Given the description of an element on the screen output the (x, y) to click on. 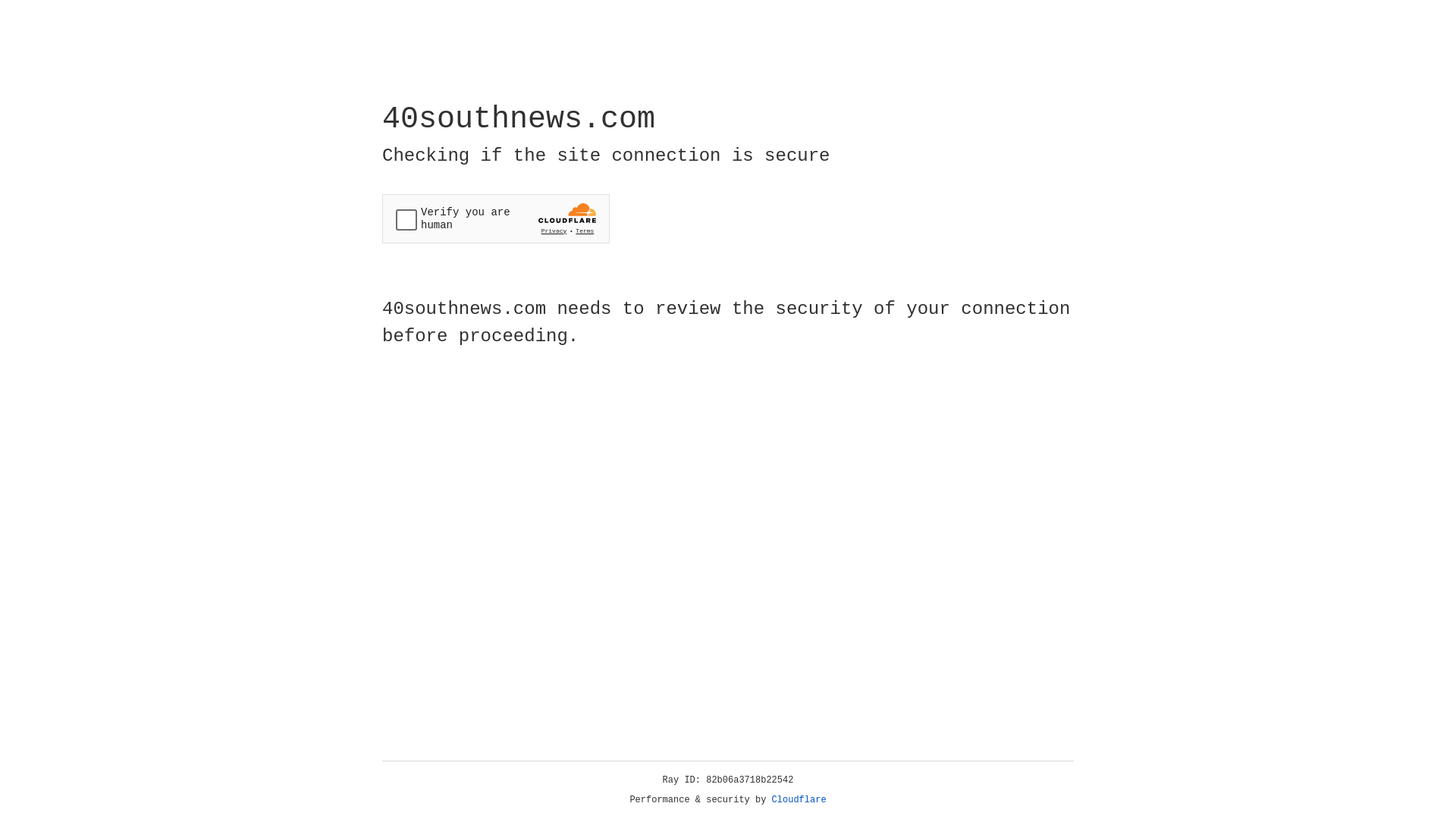
Cloudflare Element type: text (798, 799)
Widget containing a Cloudflare security challenge Element type: hover (495, 218)
